Given the description of an element on the screen output the (x, y) to click on. 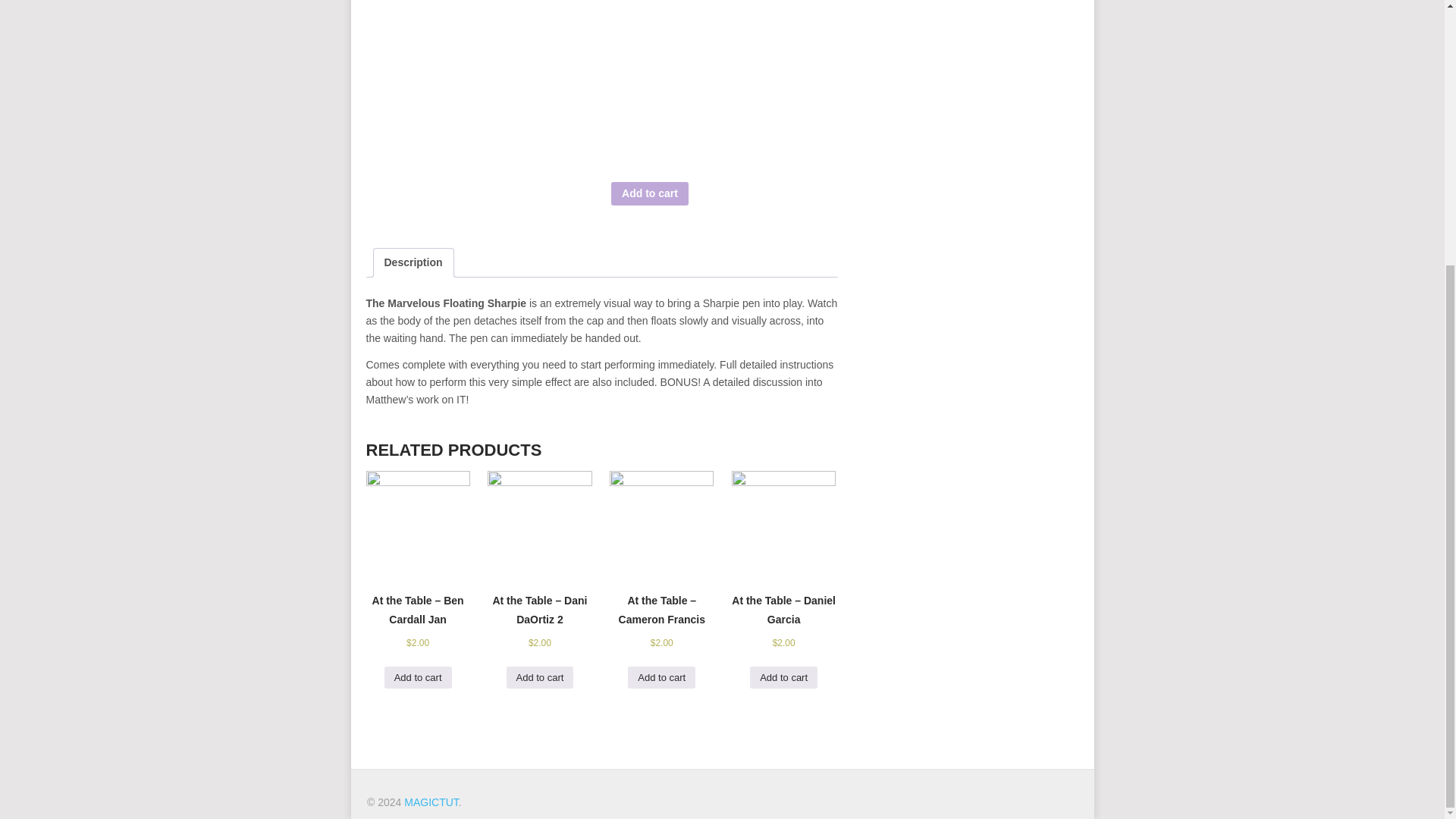
MAGICTUT (431, 802)
Add to cart (782, 677)
Add to cart (649, 193)
Add to cart (539, 677)
Add to cart (661, 677)
THE MARVELOUS FLOATING SHARPIE by Matthew Wright (724, 83)
Digital Magic Shop (431, 802)
Description (413, 262)
Add to cart (417, 677)
